Given the description of an element on the screen output the (x, y) to click on. 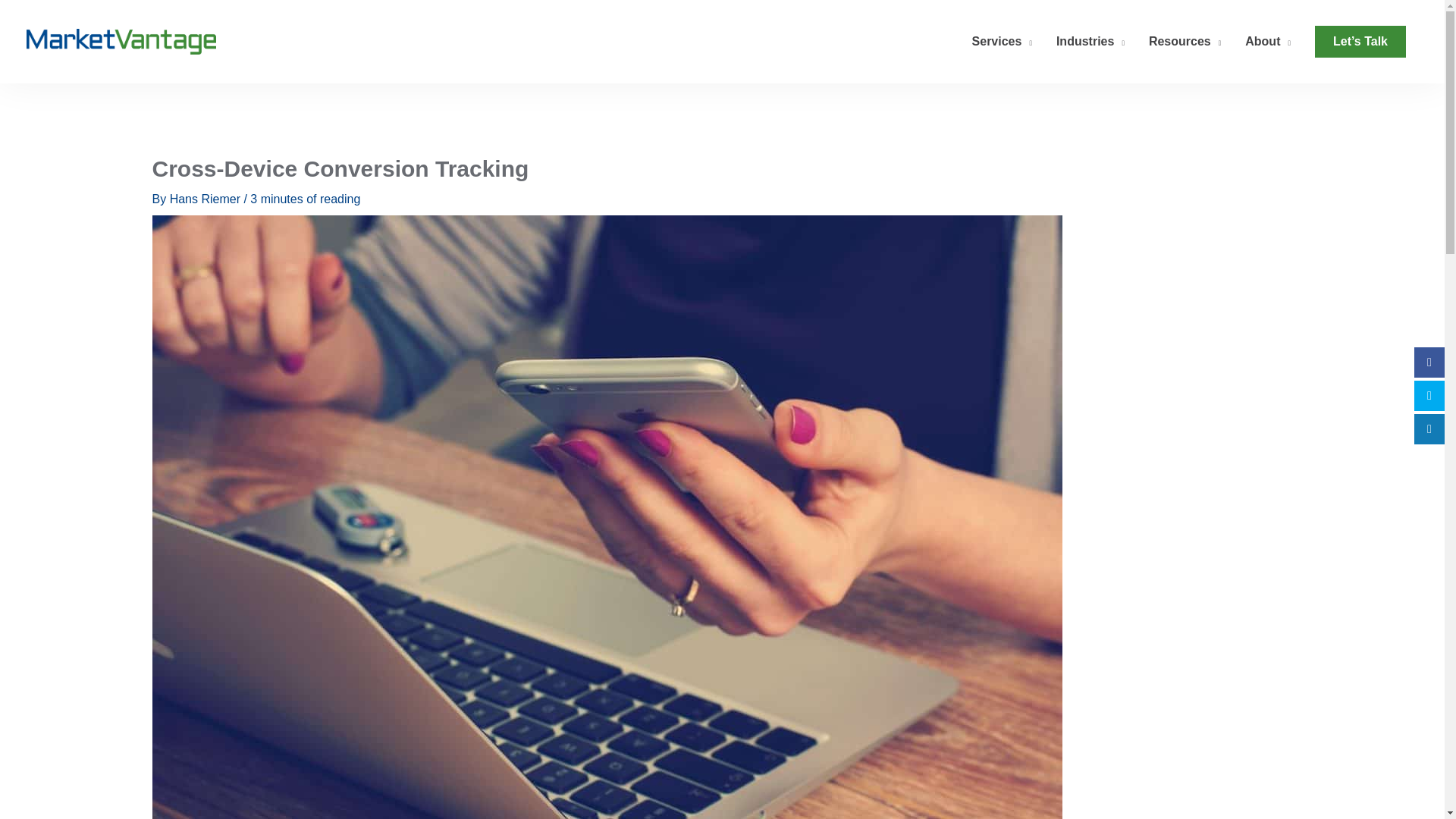
Services (1001, 41)
About (1268, 41)
Industries (1090, 41)
Resources (1185, 41)
View all posts by Hans Riemer (207, 198)
